Given the description of an element on the screen output the (x, y) to click on. 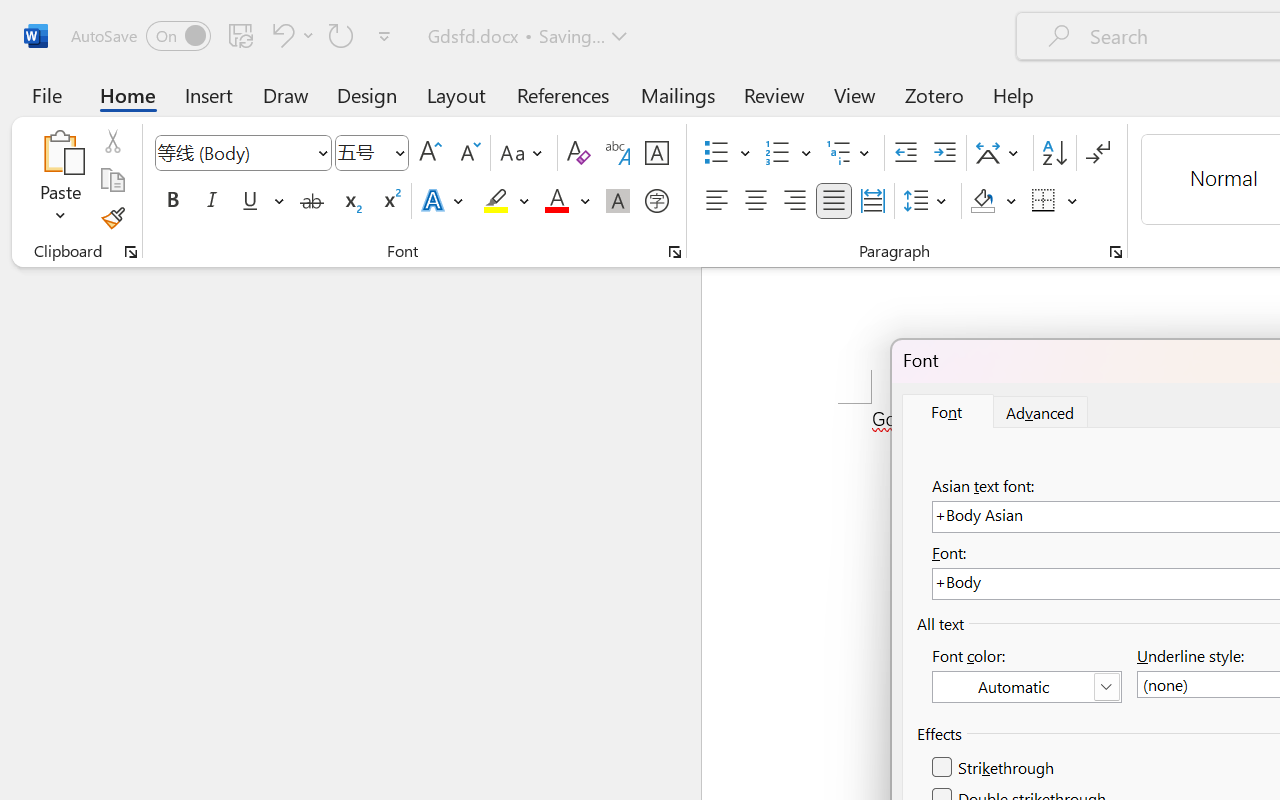
Copy (112, 179)
Office Clipboard... (131, 252)
Character Border (656, 153)
Decrease Indent (906, 153)
Align Left (716, 201)
Font Color (567, 201)
Distributed (872, 201)
